Given the description of an element on the screen output the (x, y) to click on. 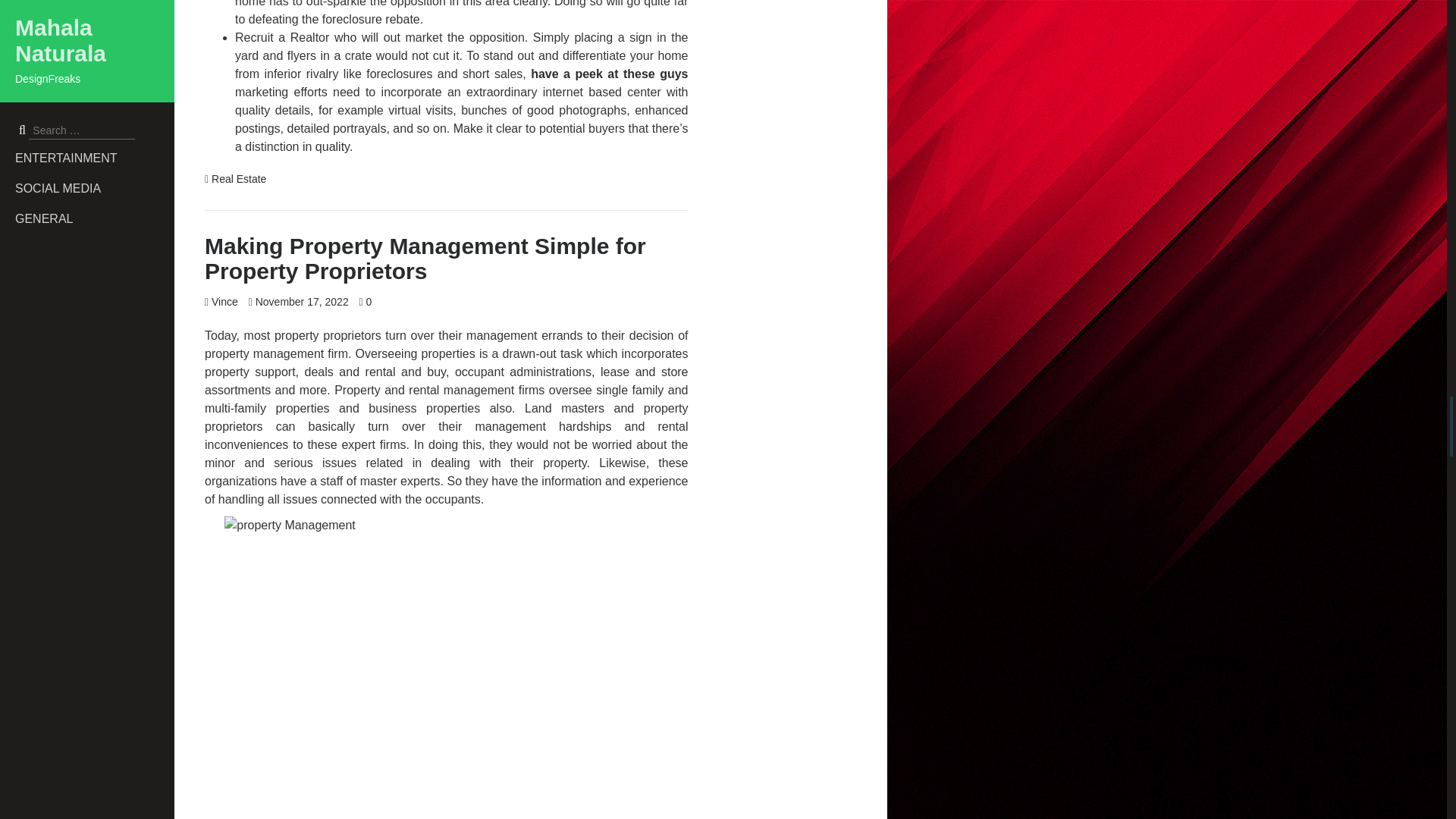
Making Property Management Simple for Property Proprietors (425, 258)
Posts by Vince (224, 301)
Vince (224, 301)
have a peek at these guys (609, 73)
Real Estate (238, 178)
